Given the description of an element on the screen output the (x, y) to click on. 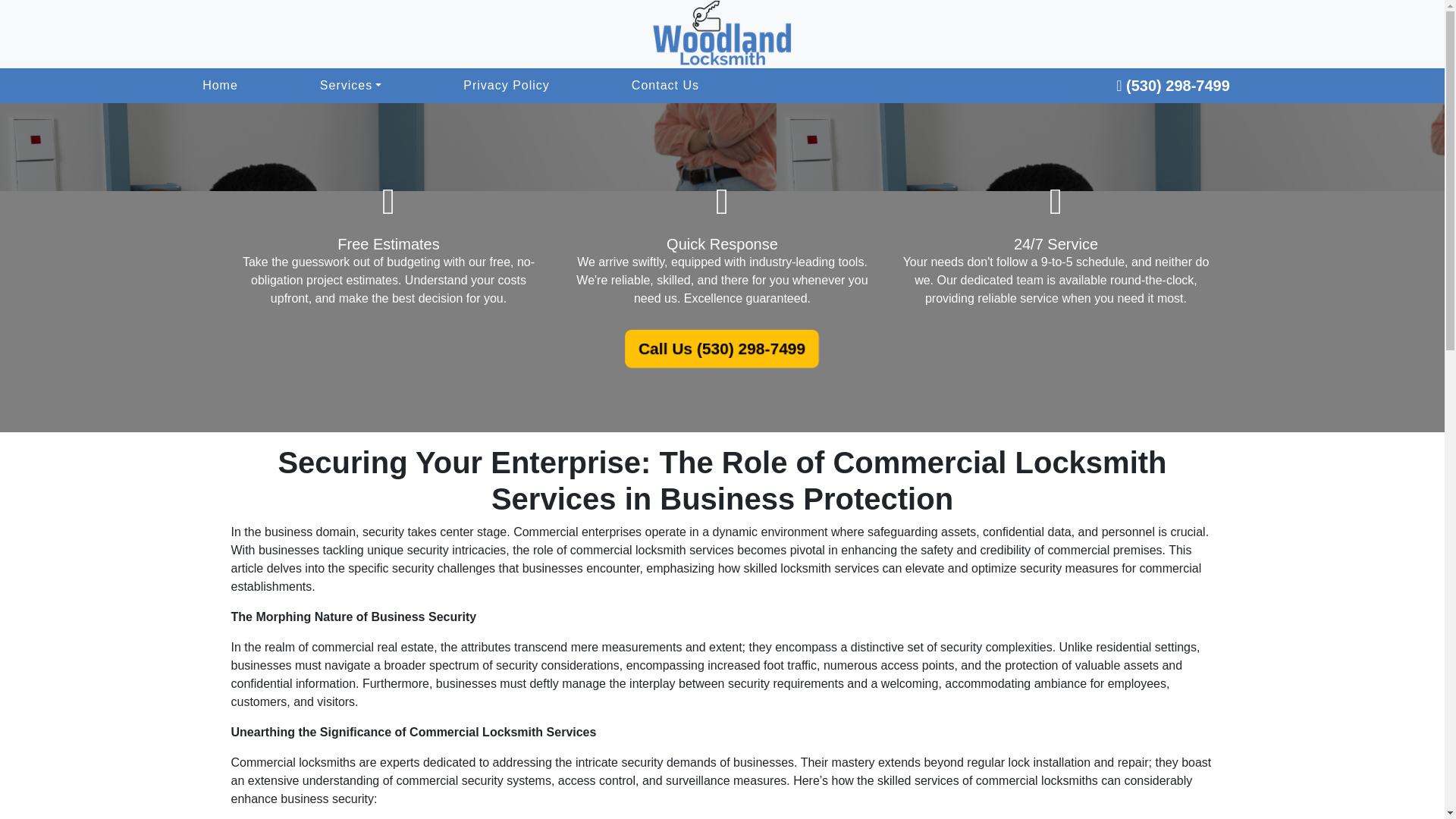
Contact Us (664, 85)
Privacy Policy (506, 85)
Home (220, 85)
Services (350, 85)
